Given the description of an element on the screen output the (x, y) to click on. 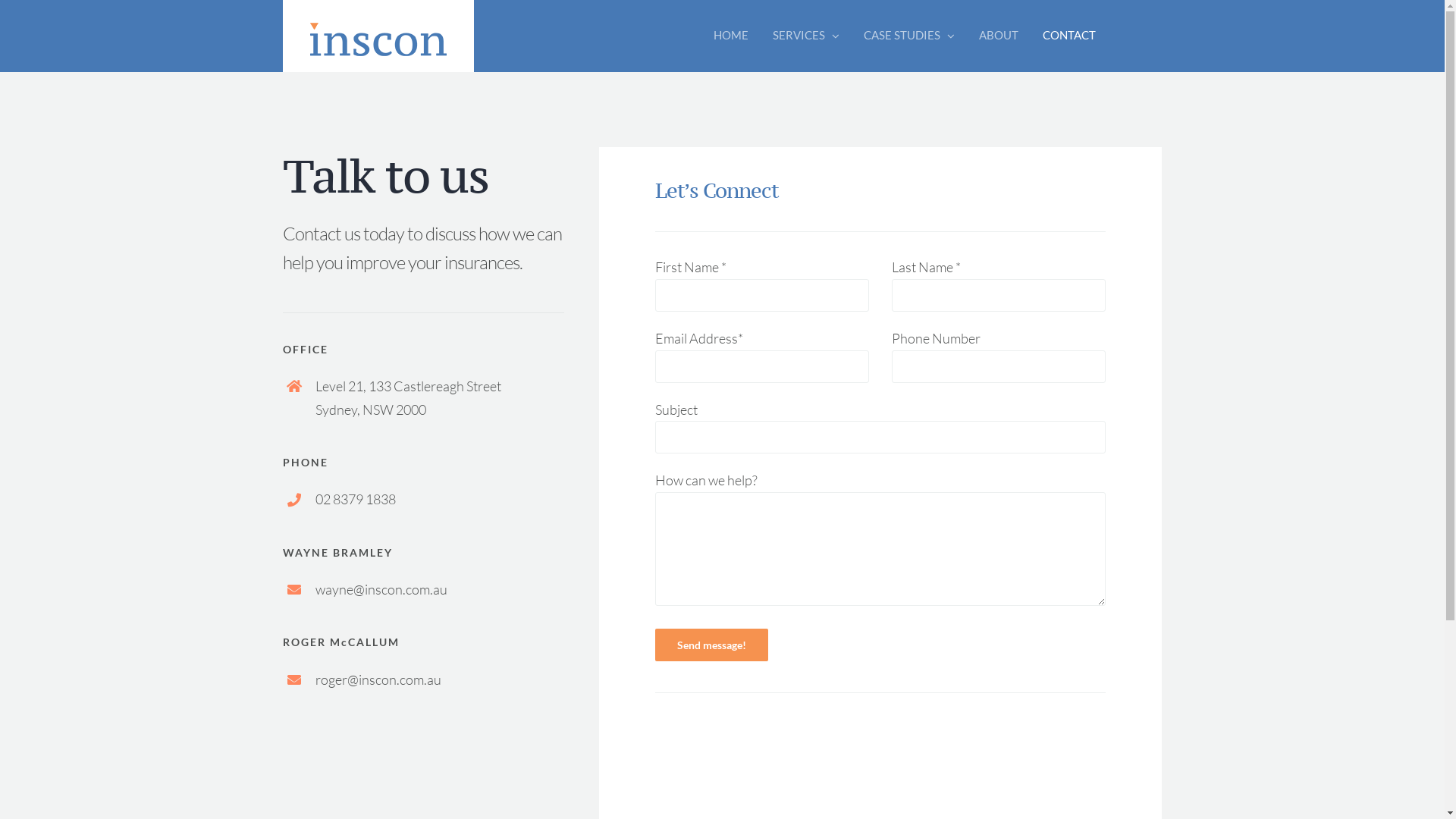
CONTACT Element type: text (1068, 35)
SERVICES Element type: text (805, 35)
HOME Element type: text (730, 35)
CASE STUDIES Element type: text (908, 35)
ABOUT Element type: text (998, 35)
Send message! Element type: text (711, 644)
